Given the description of an element on the screen output the (x, y) to click on. 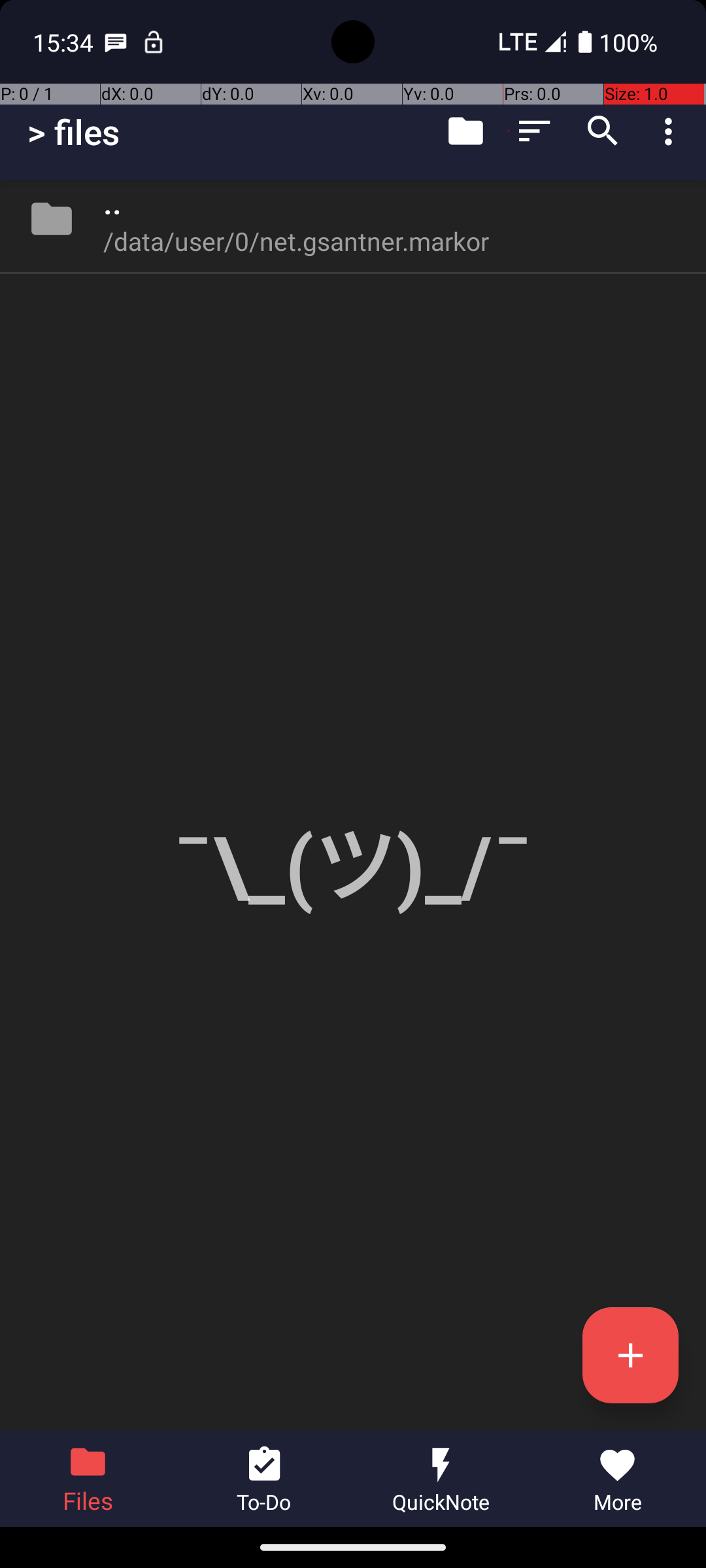
> files Element type: android.widget.TextView (73, 131)
Folder .. /storage Element type: android.widget.LinearLayout (353, 218)
